Given the description of an element on the screen output the (x, y) to click on. 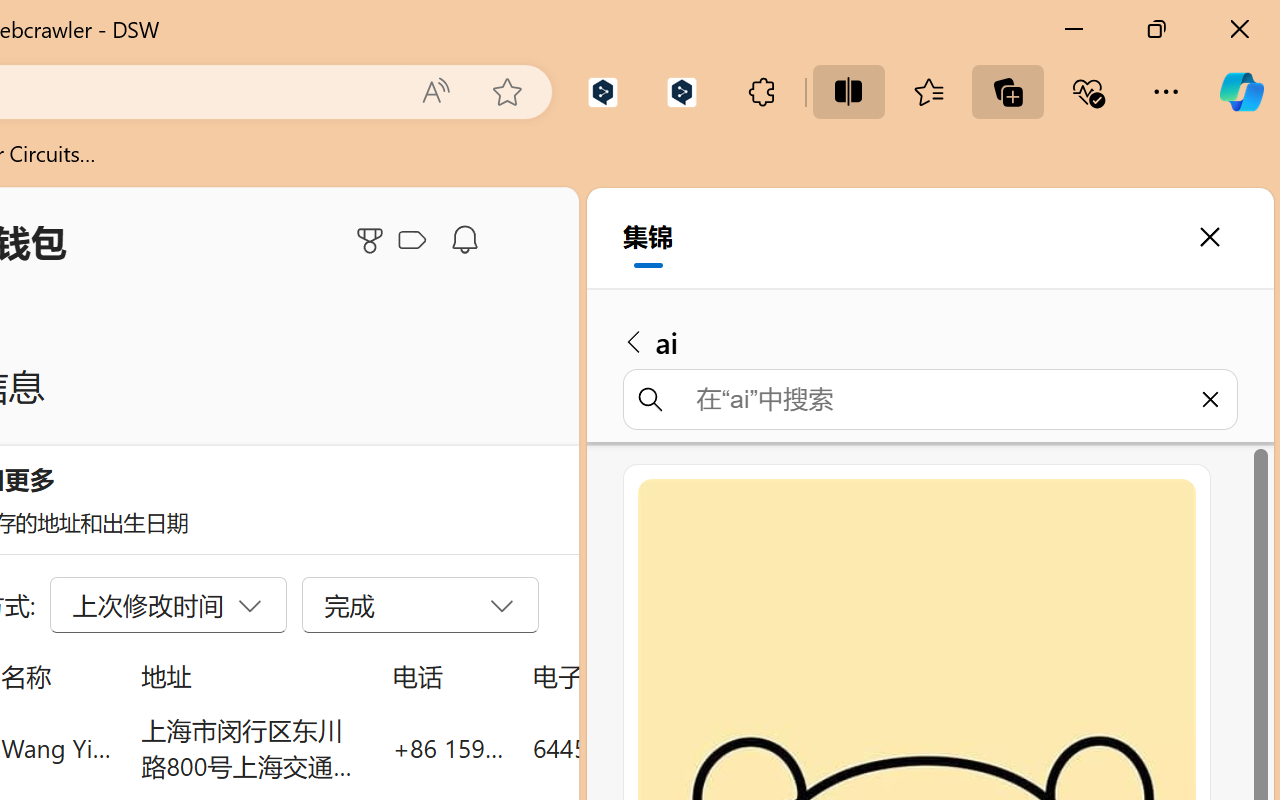
Copilot (Ctrl+Shift+.) (1241, 91)
Microsoft Rewards (373, 240)
644553698@qq.com (644, 747)
